Given the description of an element on the screen output the (x, y) to click on. 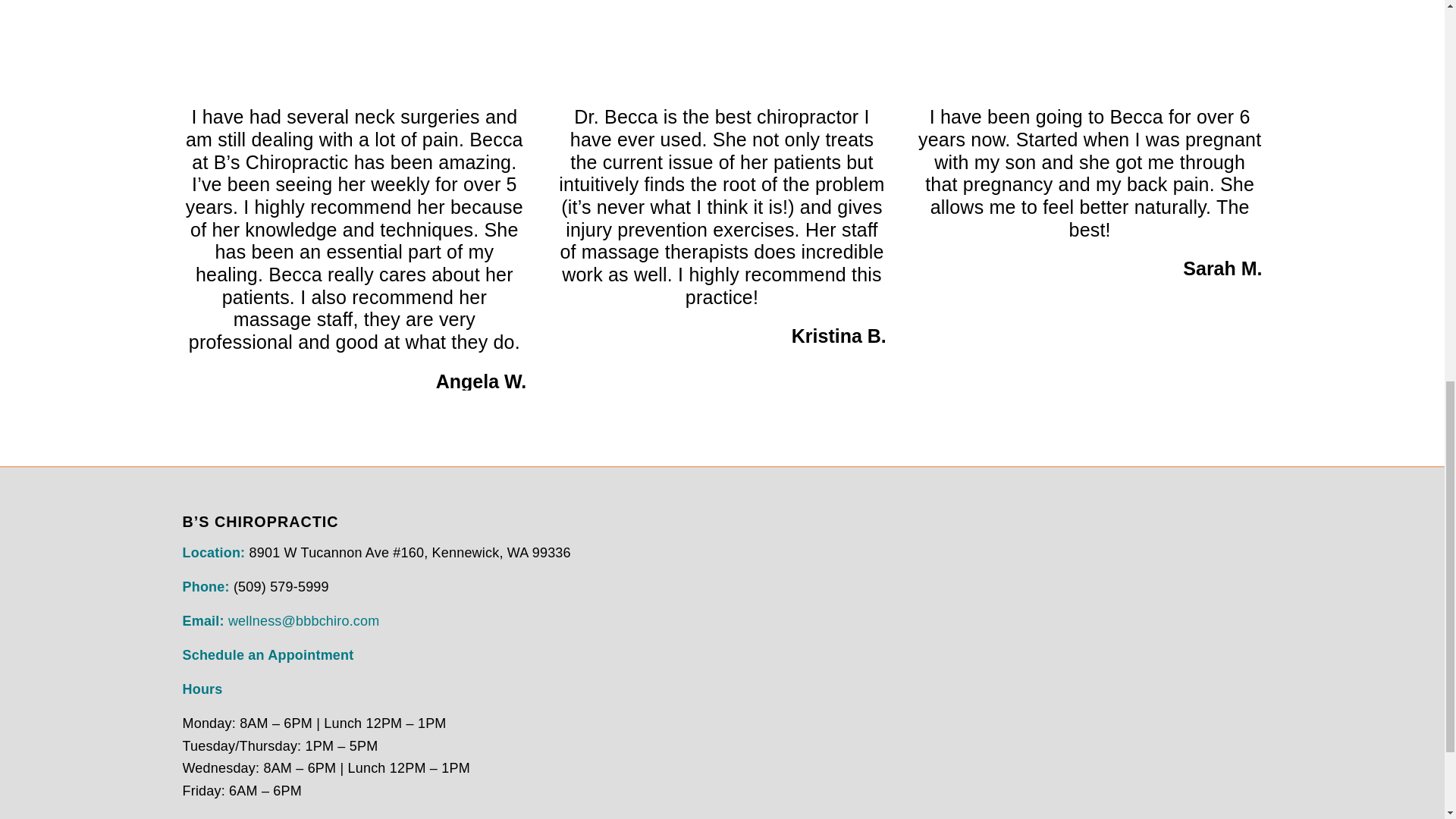
Schedule an Appointment (267, 654)
